Given the description of an element on the screen output the (x, y) to click on. 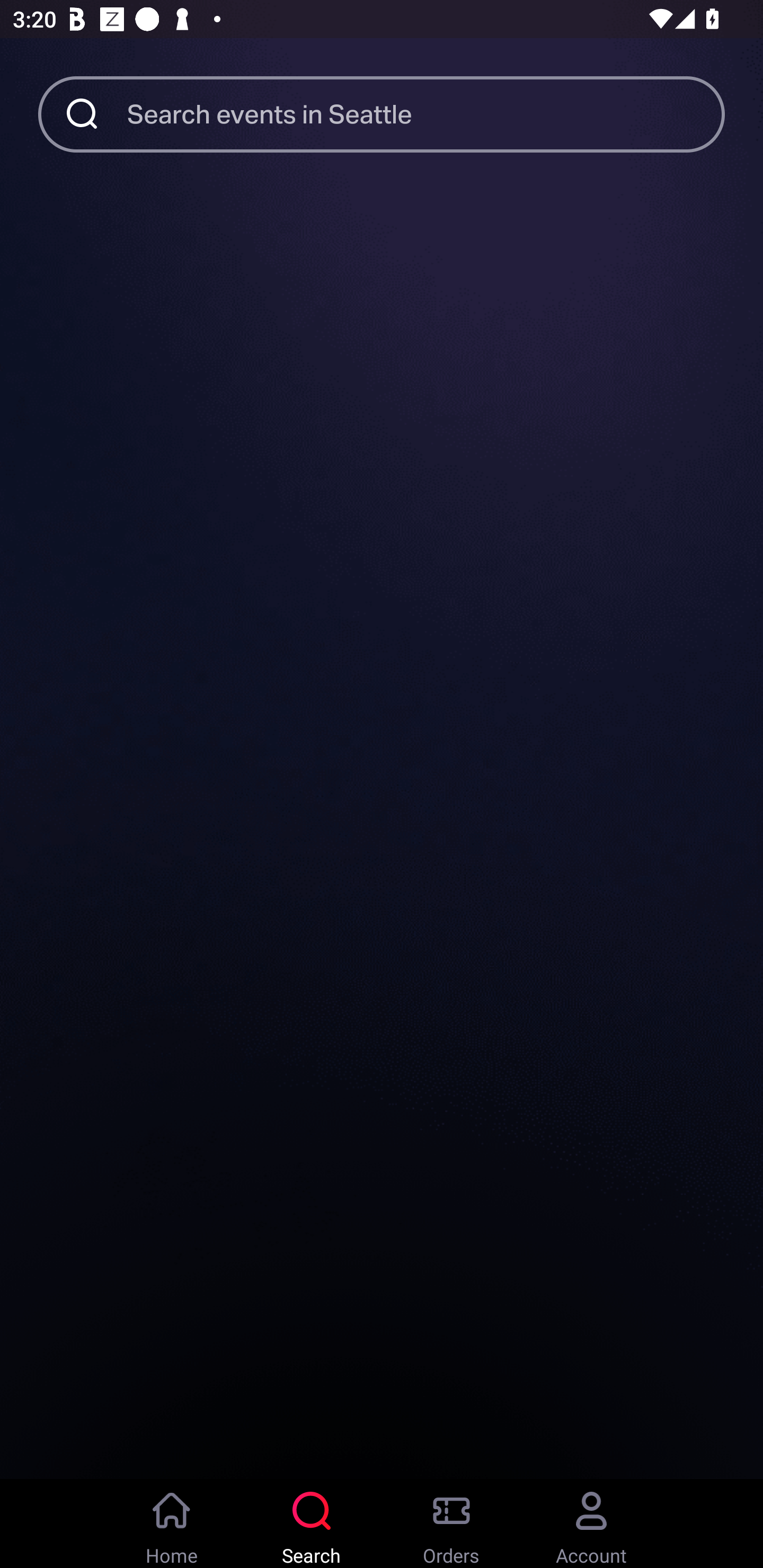
Search events in Seattle (425, 113)
Home (171, 1523)
Orders (451, 1523)
Account (591, 1523)
